Given the description of an element on the screen output the (x, y) to click on. 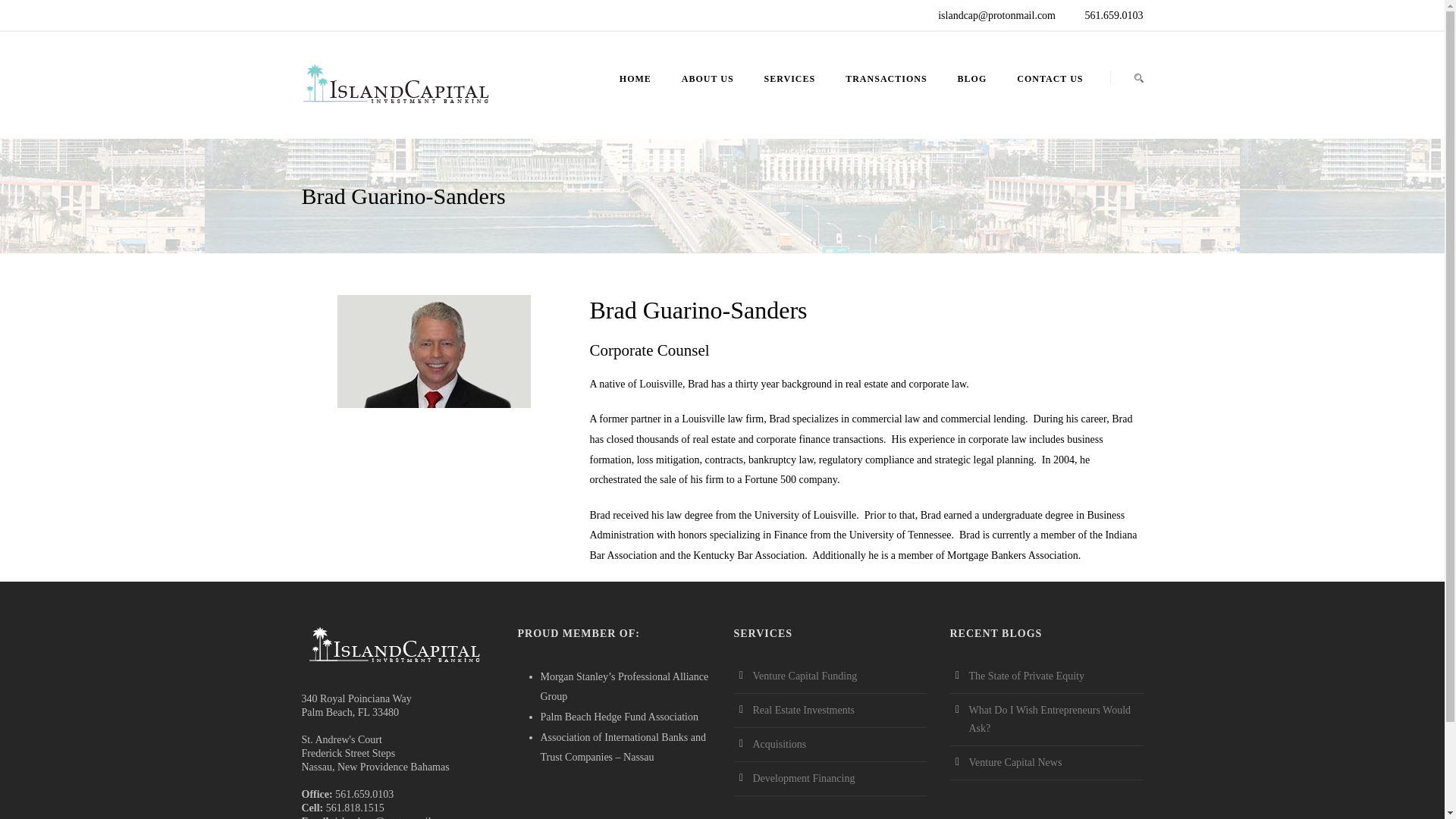
Development Financing (803, 778)
What Do I Wish Entrepreneurs Would Ask? (1050, 718)
CONTACT US (1042, 96)
Acquisitions (779, 744)
SERVICES (790, 96)
The State of Private Equity (1026, 675)
Venture Capital Funding (804, 675)
Real Estate Investments (803, 709)
BLOG (972, 96)
ABOUT US (707, 96)
TRANSACTIONS (885, 96)
Venture Capital News (1015, 762)
